Given the description of an element on the screen output the (x, y) to click on. 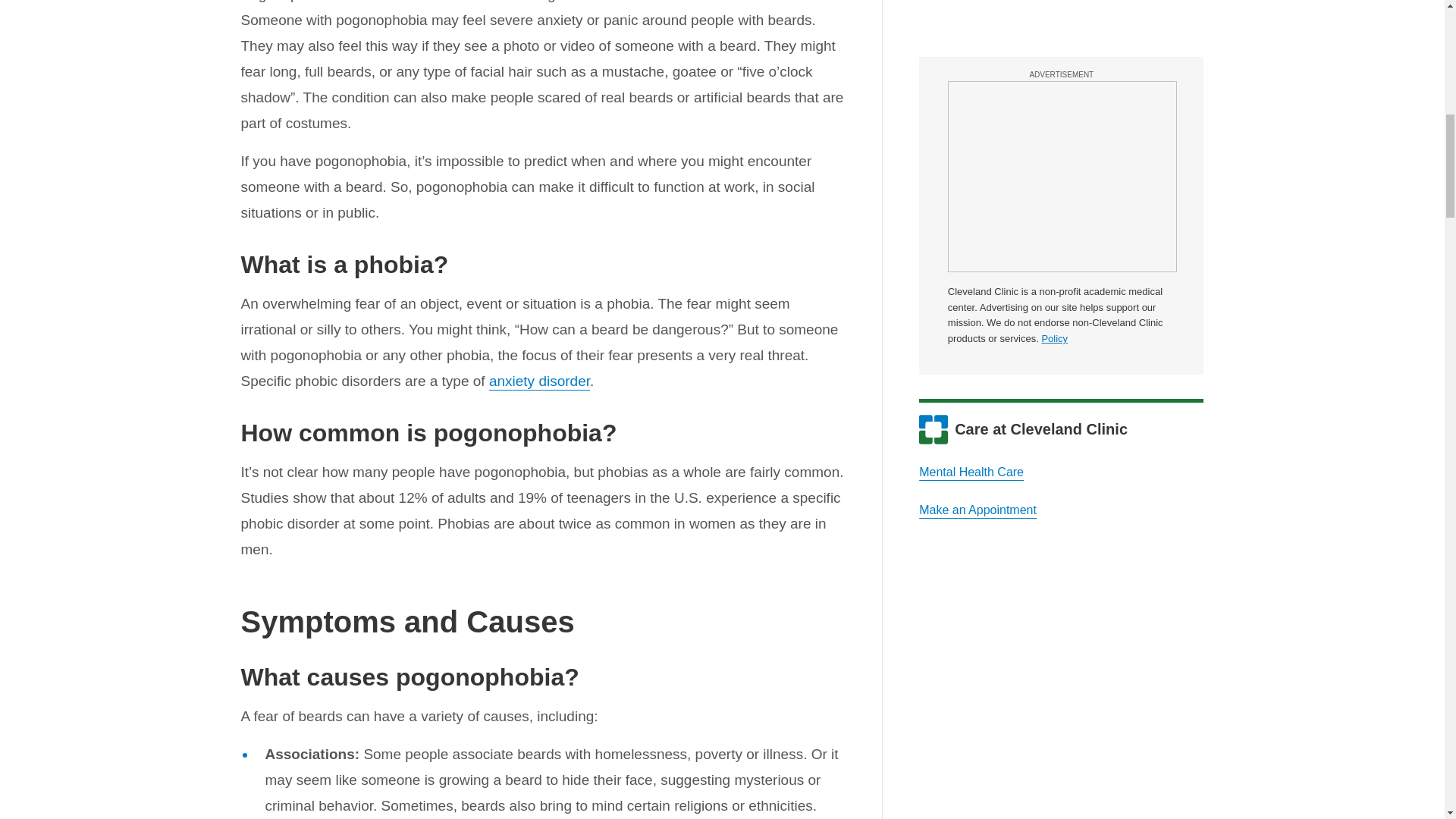
3rd party ad content (1061, 9)
